Given the description of an element on the screen output the (x, y) to click on. 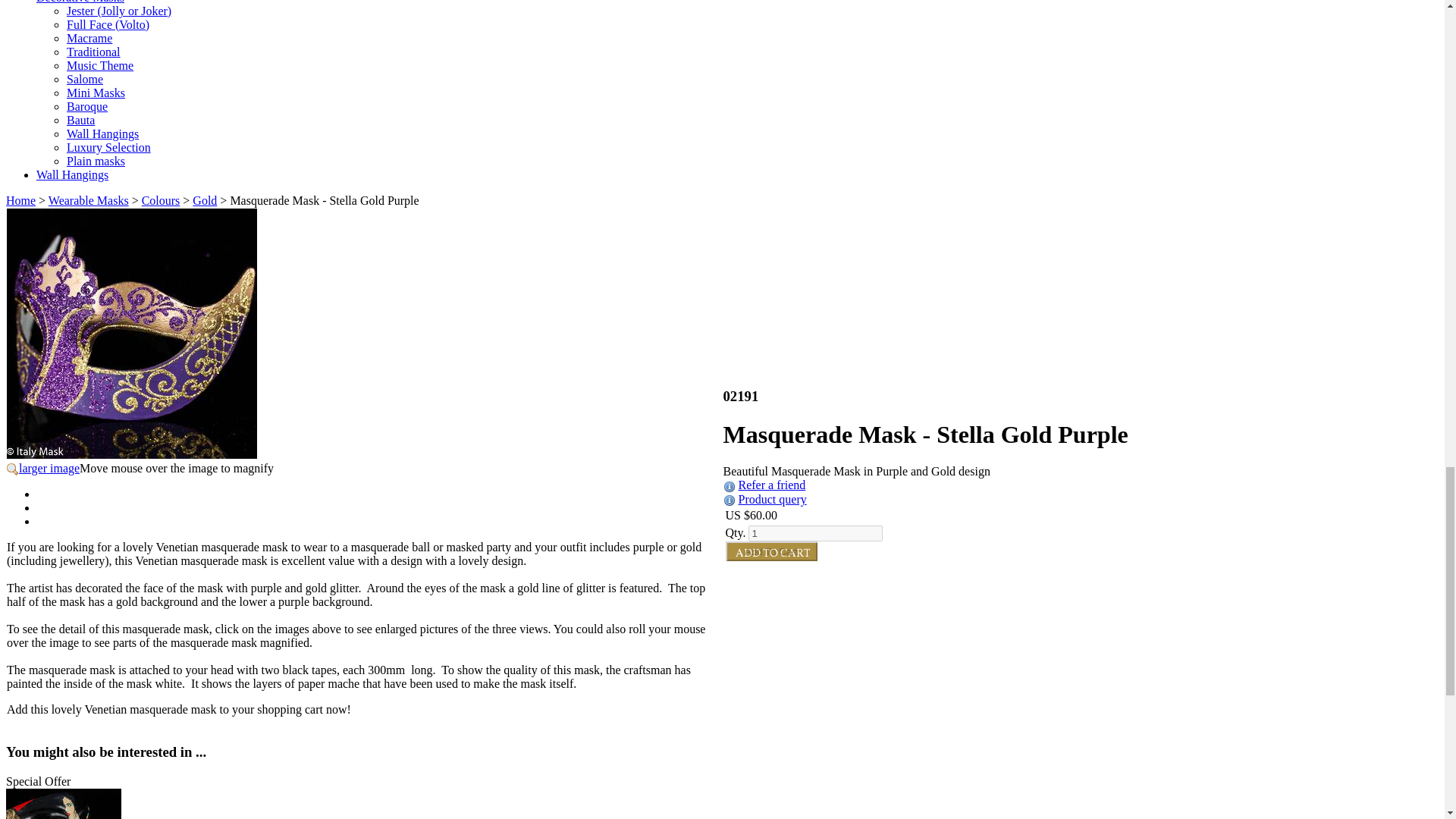
1 (815, 533)
Add To Cart (770, 551)
